Given the description of an element on the screen output the (x, y) to click on. 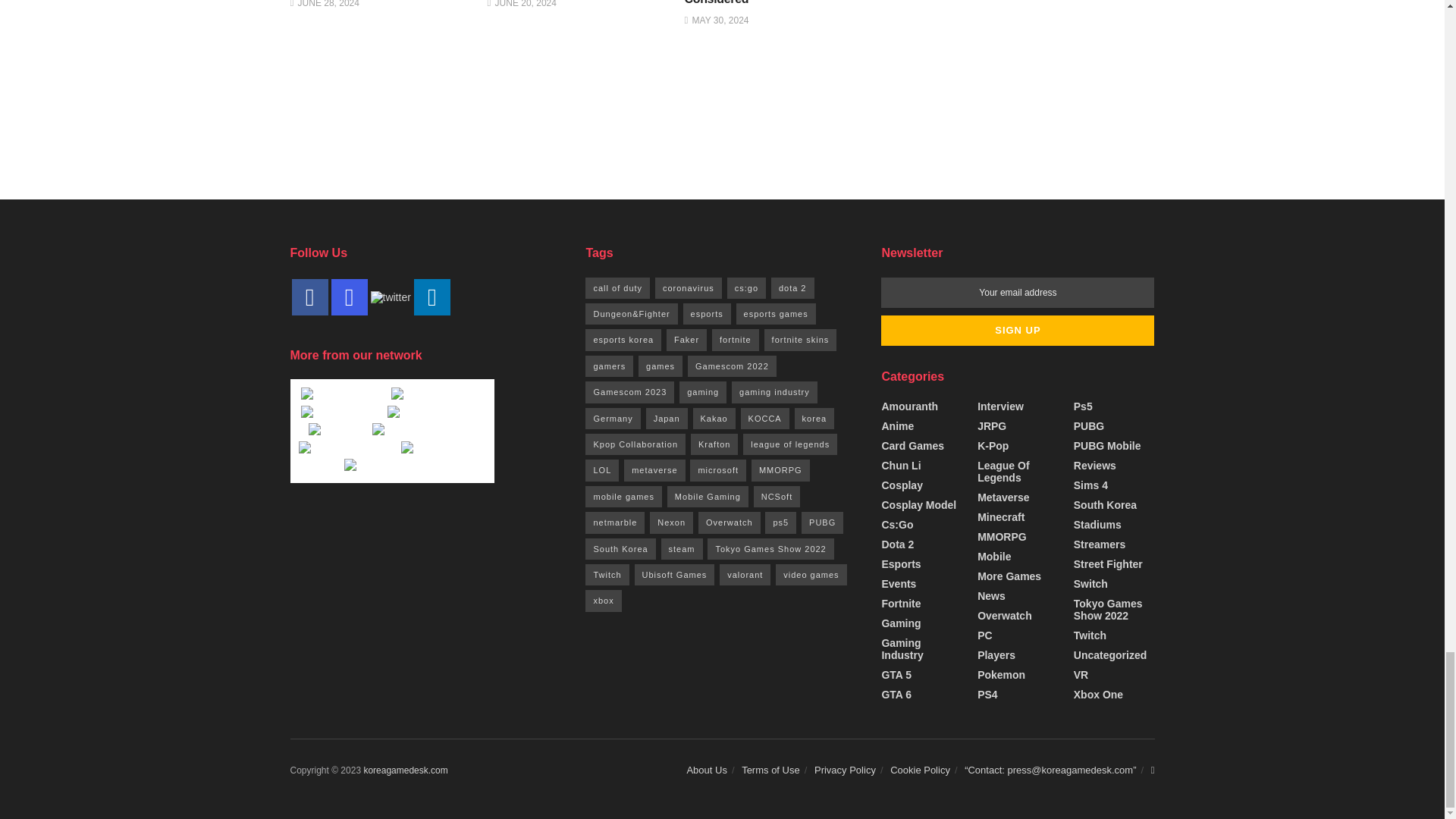
facebook (309, 297)
Sign up (1017, 330)
instagram (348, 297)
twitter (390, 295)
twitter (389, 297)
linkedin (431, 297)
